Given the description of an element on the screen output the (x, y) to click on. 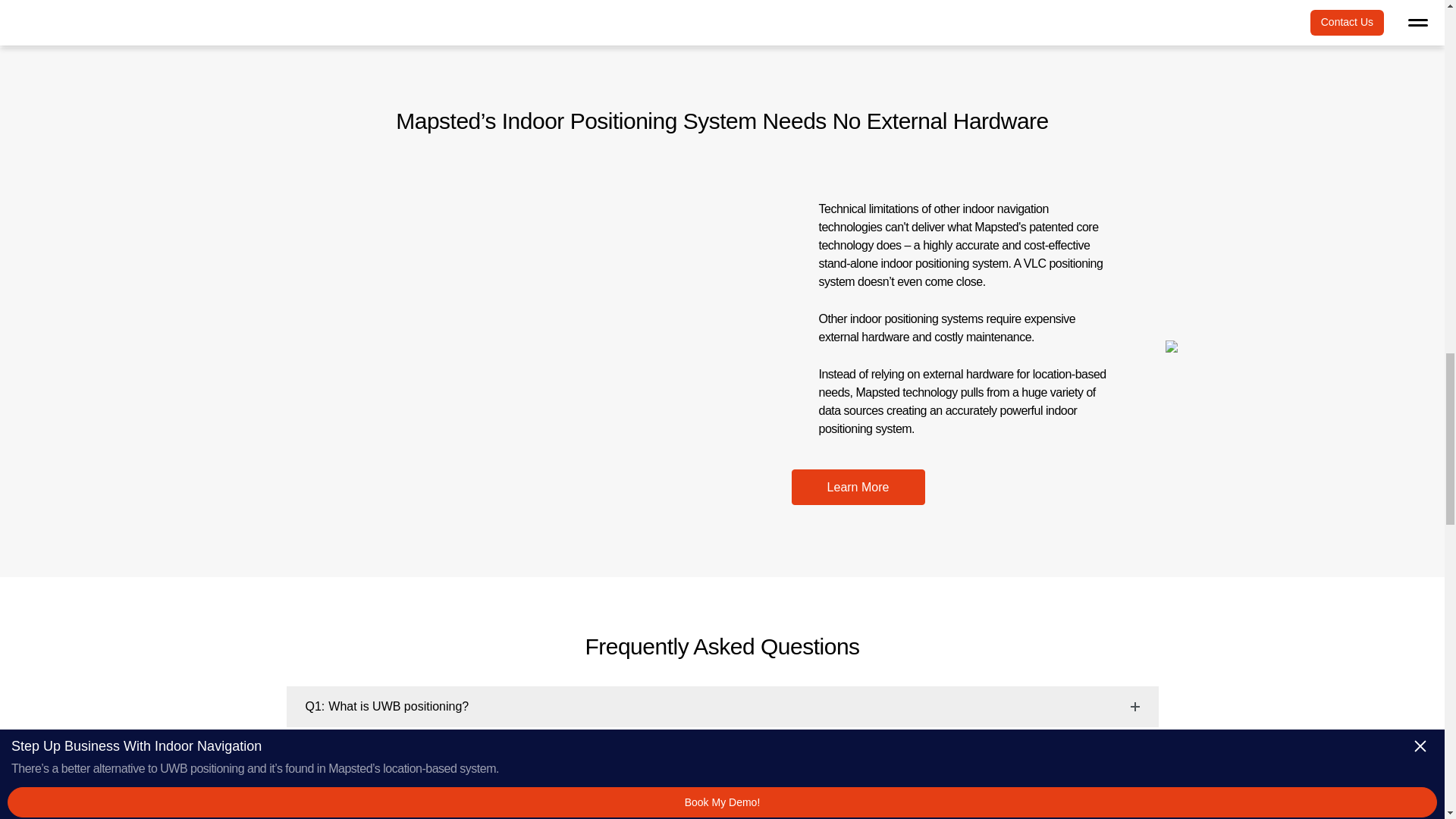
Learn More (858, 487)
